Given the description of an element on the screen output the (x, y) to click on. 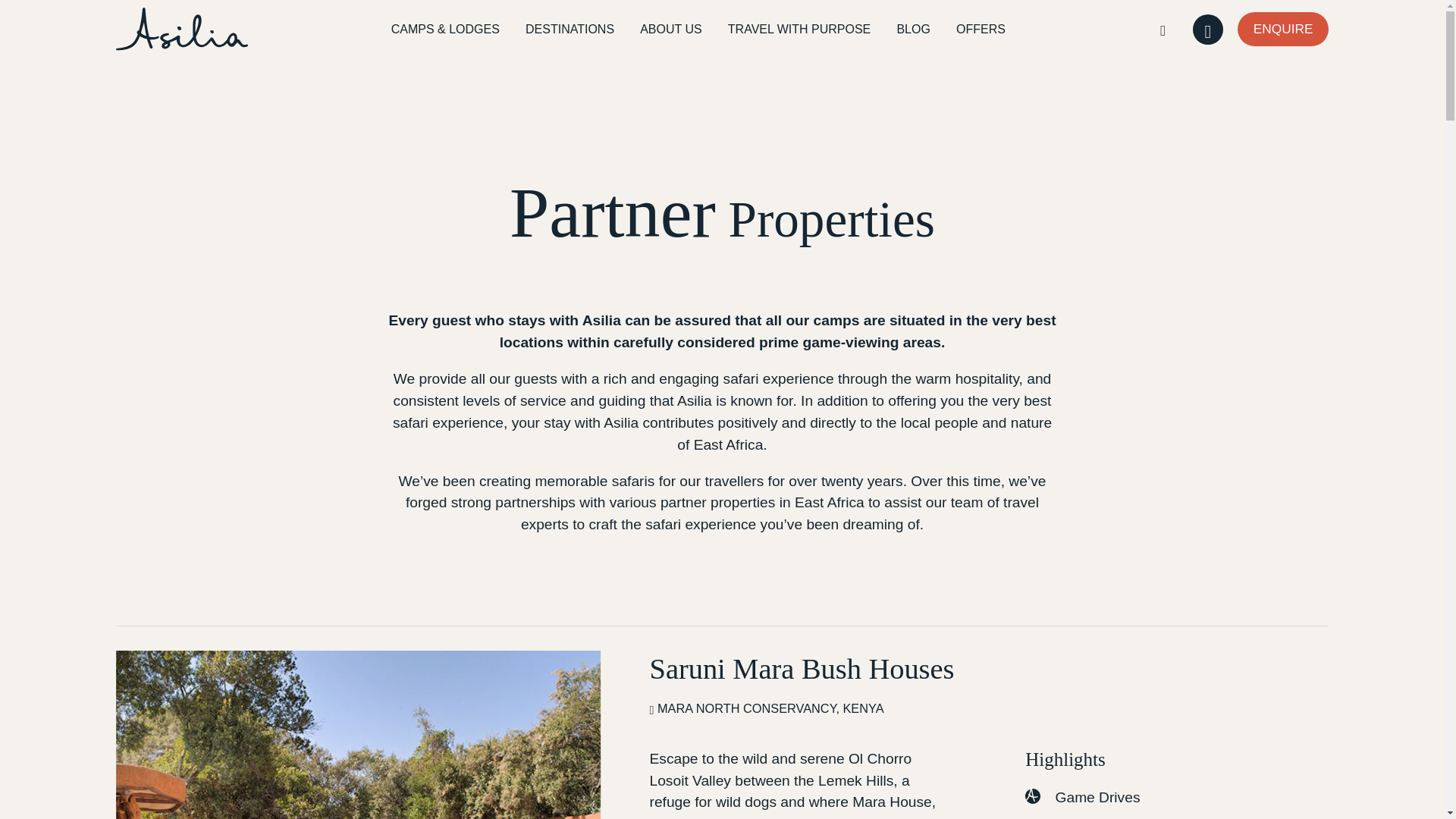
TRAVEL WITH PURPOSE (798, 28)
Home (181, 28)
ENQUIRE (1282, 29)
OFFERS (980, 28)
DESTINATIONS (569, 28)
BLOG (913, 28)
ABOUT US (671, 28)
